Given the description of an element on the screen output the (x, y) to click on. 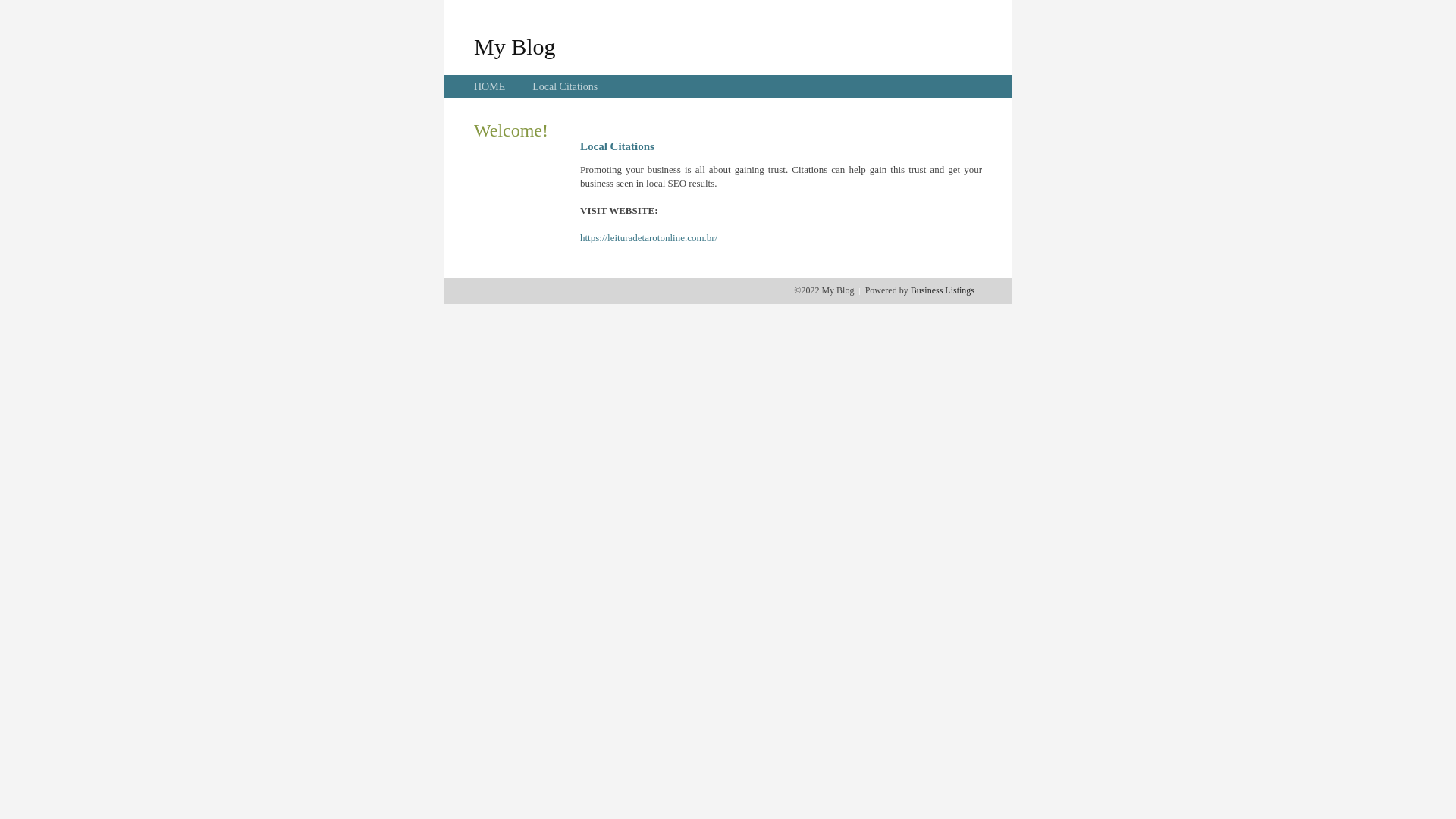
HOME Element type: text (489, 86)
My Blog Element type: text (514, 46)
https://leituradetarotonline.com.br/ Element type: text (648, 237)
Business Listings Element type: text (942, 290)
Local Citations Element type: text (564, 86)
